Given the description of an element on the screen output the (x, y) to click on. 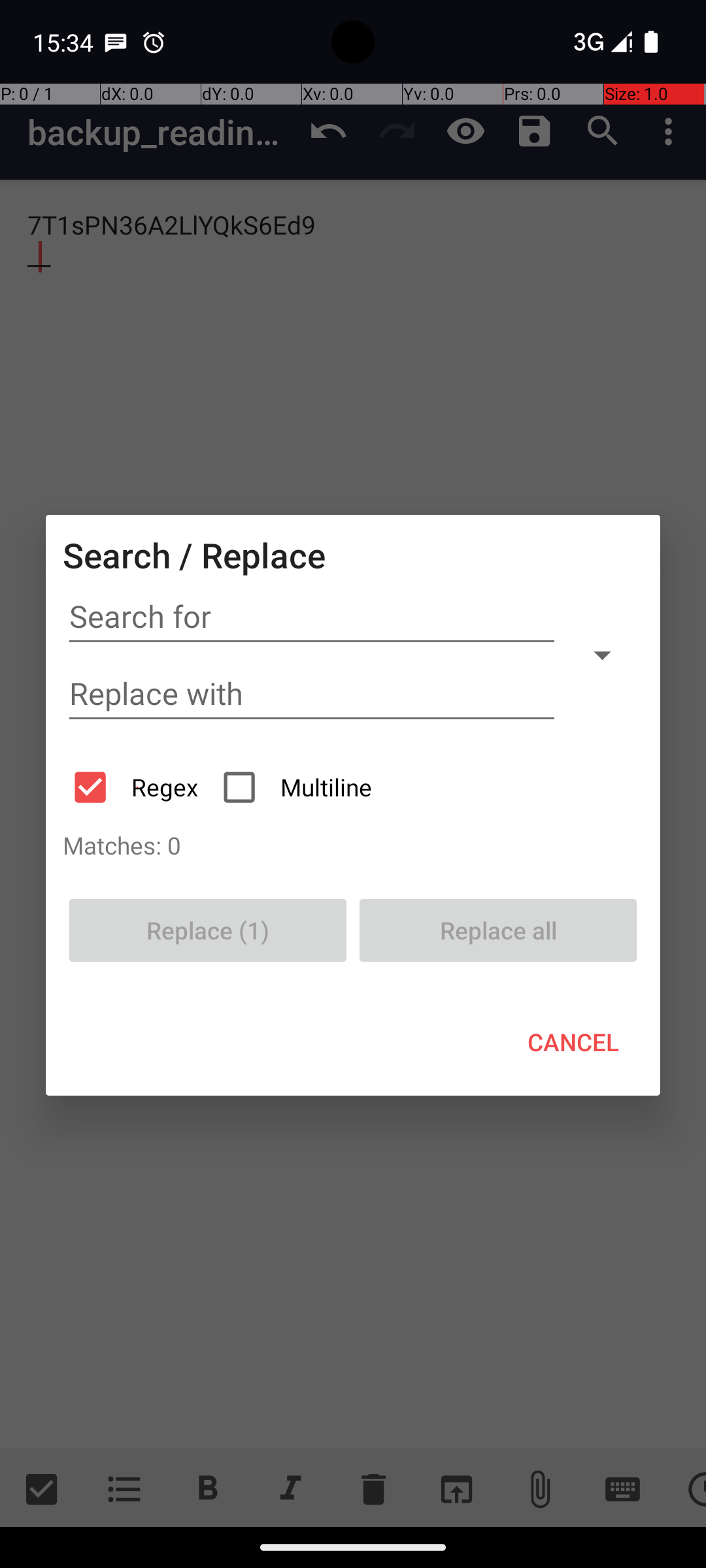
Search / Replace Element type: android.widget.TextView (193, 554)
Search for Element type: android.widget.EditText (311, 616)
Replace with Element type: android.widget.EditText (311, 693)
Regex Element type: android.widget.CheckBox (136, 786)
Multiline Element type: android.widget.CheckBox (298, 786)
Matches: 0 Element type: android.widget.TextView (352, 844)
Replace (1) Element type: android.widget.Button (207, 930)
Replace all Element type: android.widget.Button (498, 930)
